Given the description of an element on the screen output the (x, y) to click on. 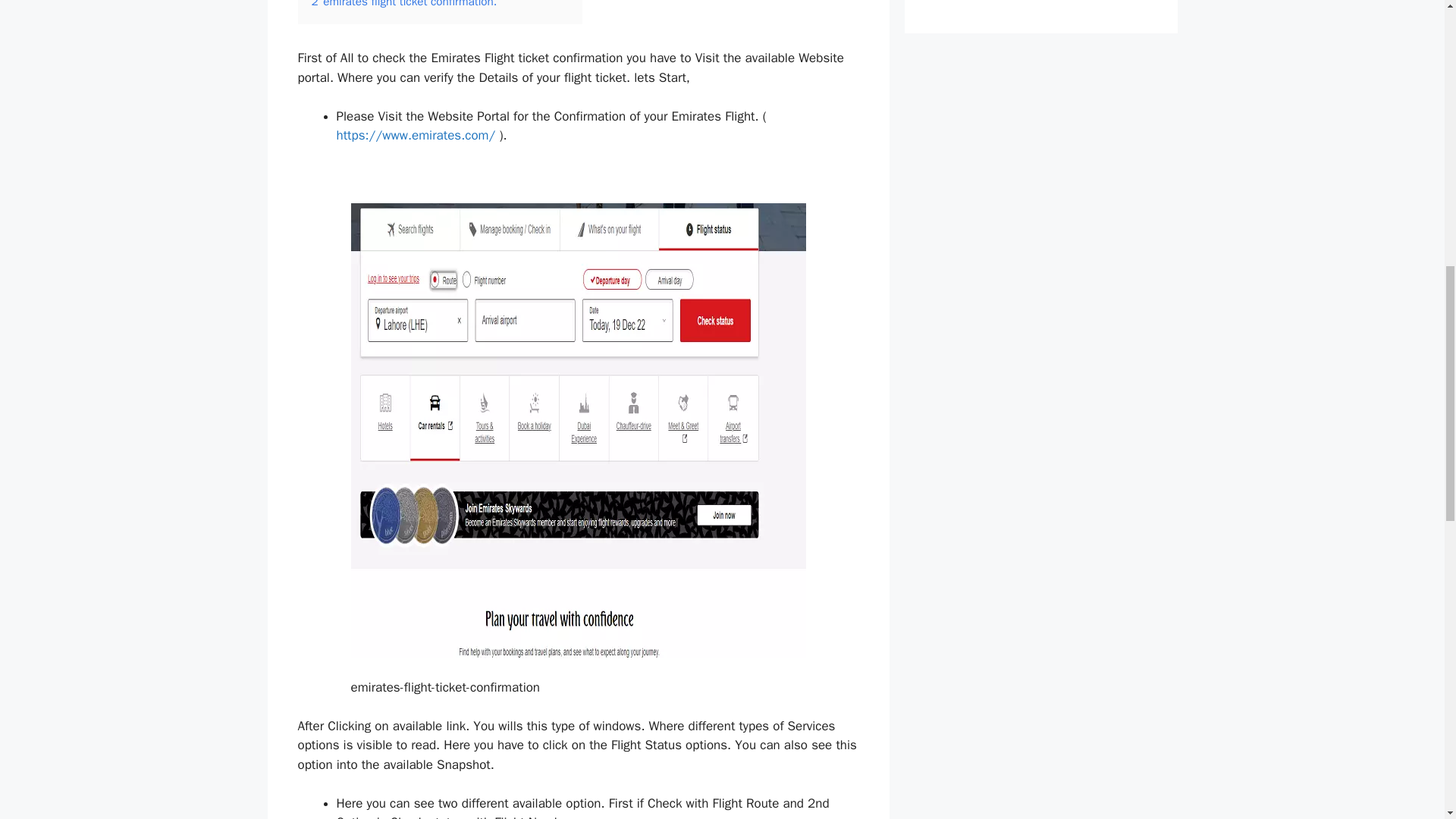
2 emirates flight ticket confirmation. (403, 4)
